Given the description of an element on the screen output the (x, y) to click on. 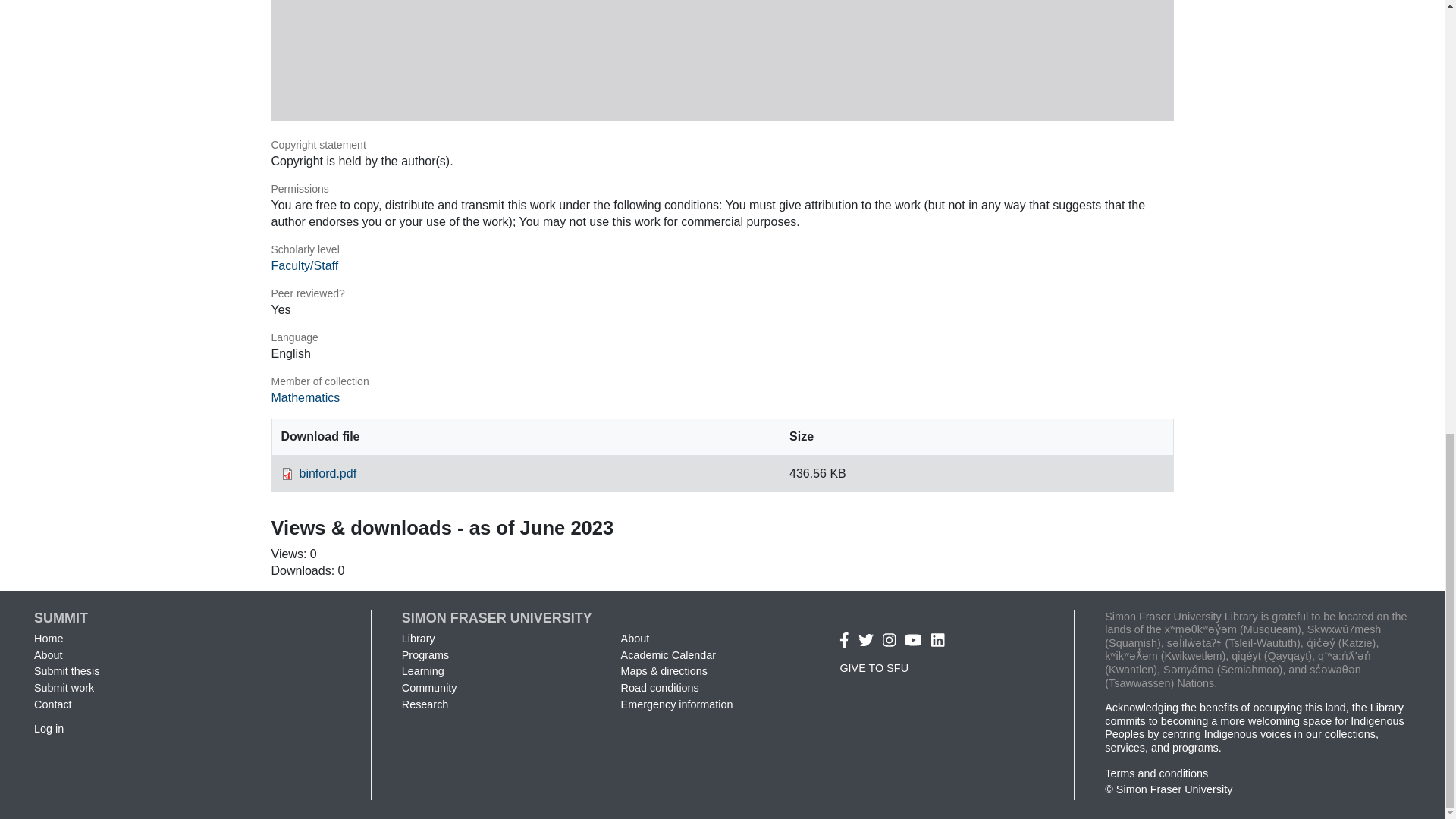
Log in (48, 728)
Member of collection (721, 381)
Submit work (63, 687)
Library (418, 638)
binford.pdf (327, 472)
Submit thesis (66, 671)
Permissions (721, 189)
Home (47, 638)
Programs (424, 654)
Language (721, 337)
Copyright statement (721, 145)
binford.pdf (721, 60)
Research (424, 704)
Community (429, 687)
About (47, 654)
